Given the description of an element on the screen output the (x, y) to click on. 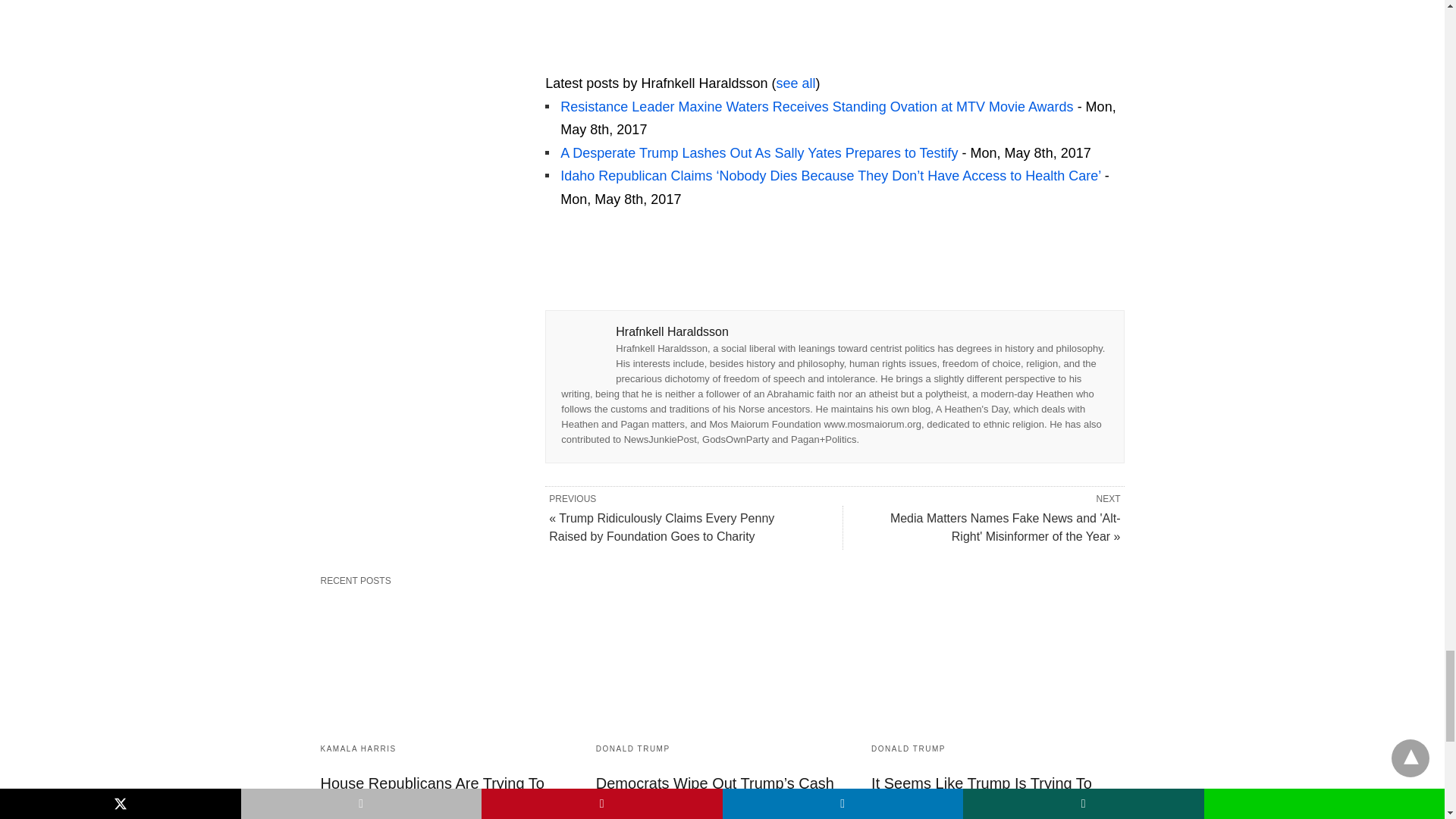
see all (795, 83)
Hrafnkell Haraldsson (639, 59)
